Given the description of an element on the screen output the (x, y) to click on. 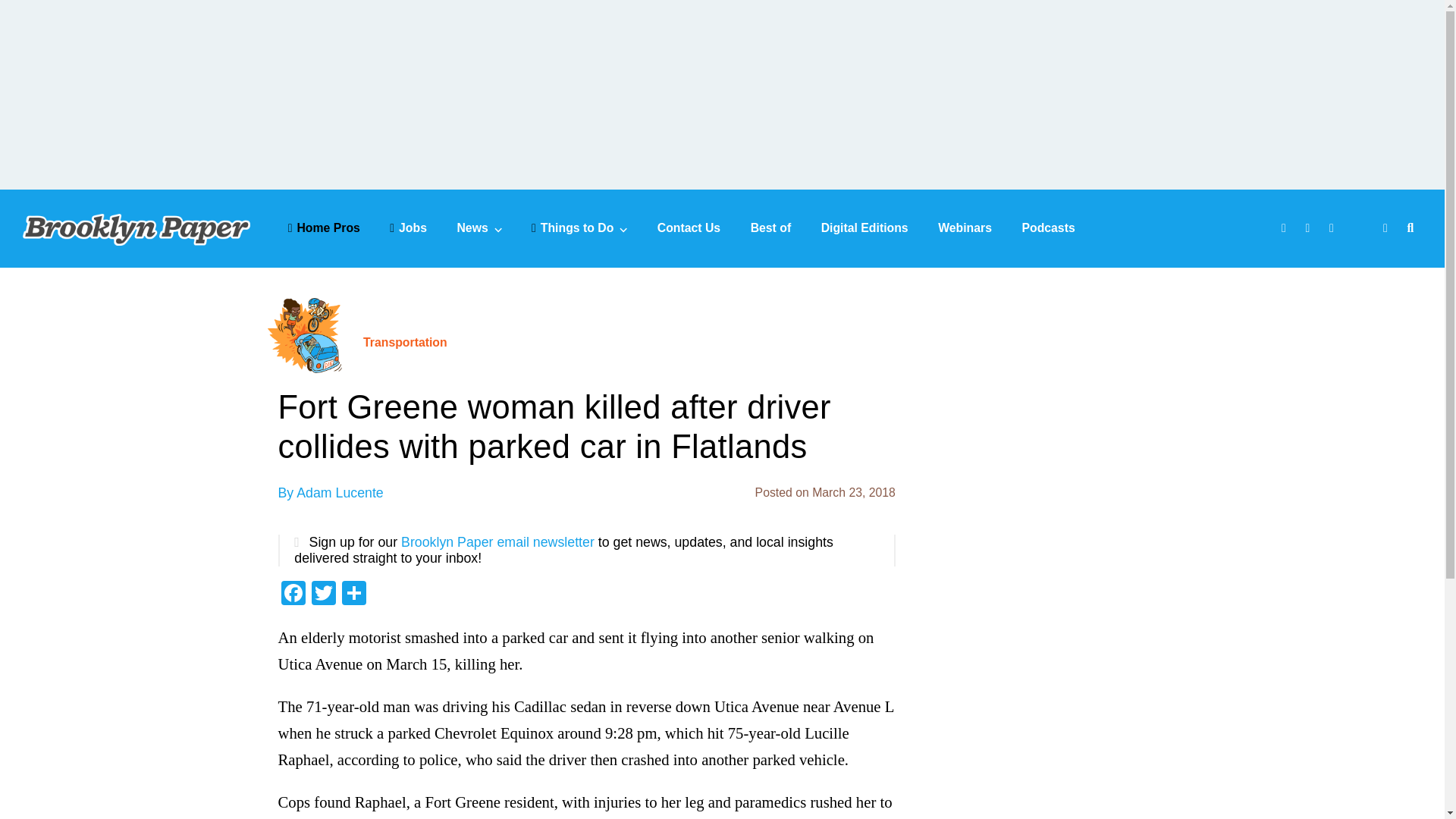
Home Pros (323, 227)
Twitter (322, 594)
Webinars (964, 227)
News (478, 227)
Contact Us (689, 227)
Things to Do (579, 227)
Podcasts (1048, 227)
Facebook (292, 594)
Digital Editions (864, 227)
Best of (771, 227)
Jobs (408, 227)
